Given the description of an element on the screen output the (x, y) to click on. 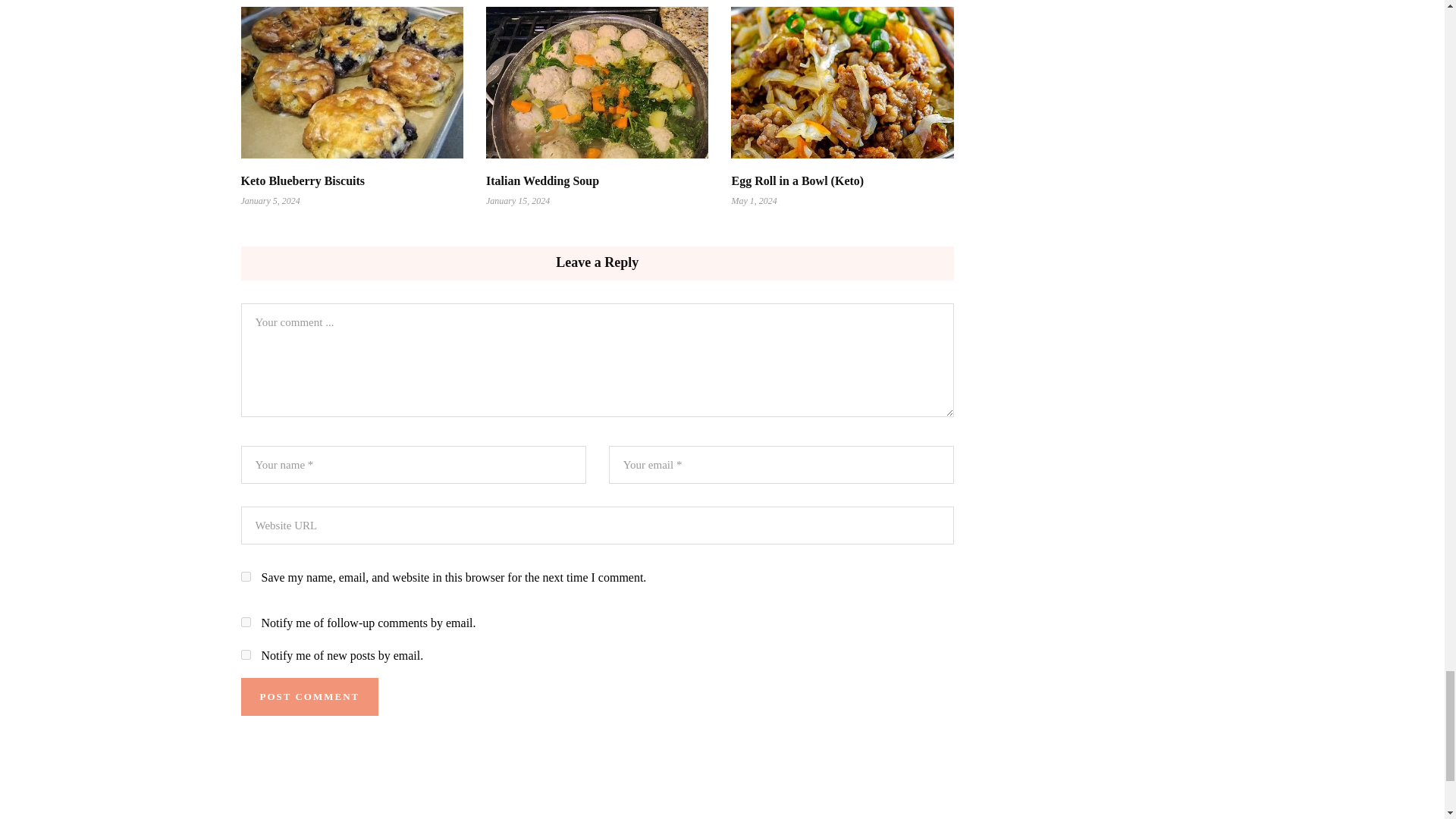
subscribe (245, 655)
yes (245, 576)
subscribe (245, 622)
Post Comment (309, 696)
